Given the description of an element on the screen output the (x, y) to click on. 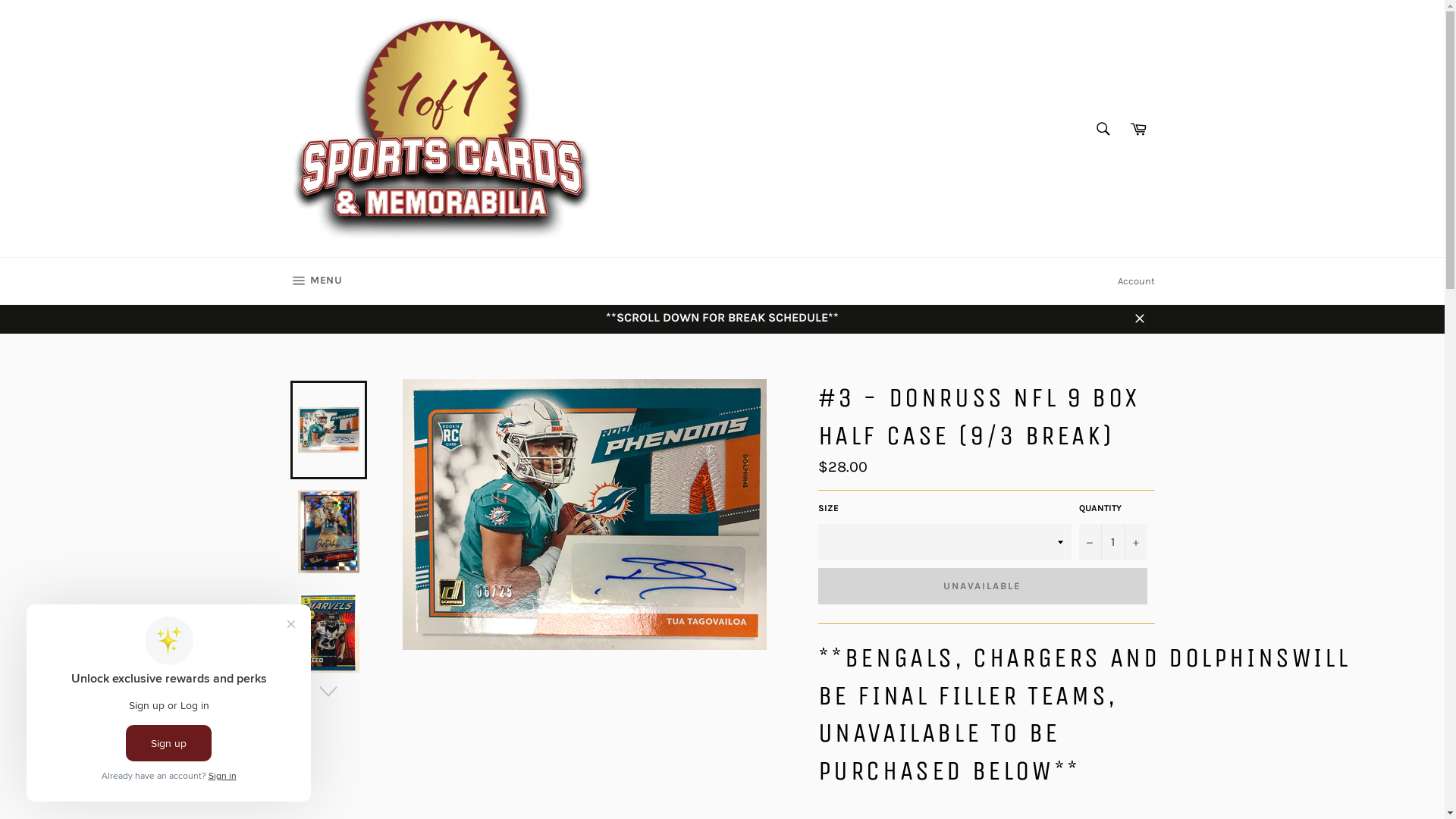
Smile.io Rewards Program Launcher Element type: hover (112, 778)
Search Element type: text (1103, 128)
Cart Element type: text (1138, 128)
Close Element type: text (1138, 317)
Account Element type: text (1136, 281)
Smile.io Rewards Program Prompt Element type: hover (168, 702)
MENU
SITE NAVIGATION Element type: text (315, 280)
+ Element type: text (1134, 542)
UNAVAILABLE Element type: text (981, 585)
